Given the description of an element on the screen output the (x, y) to click on. 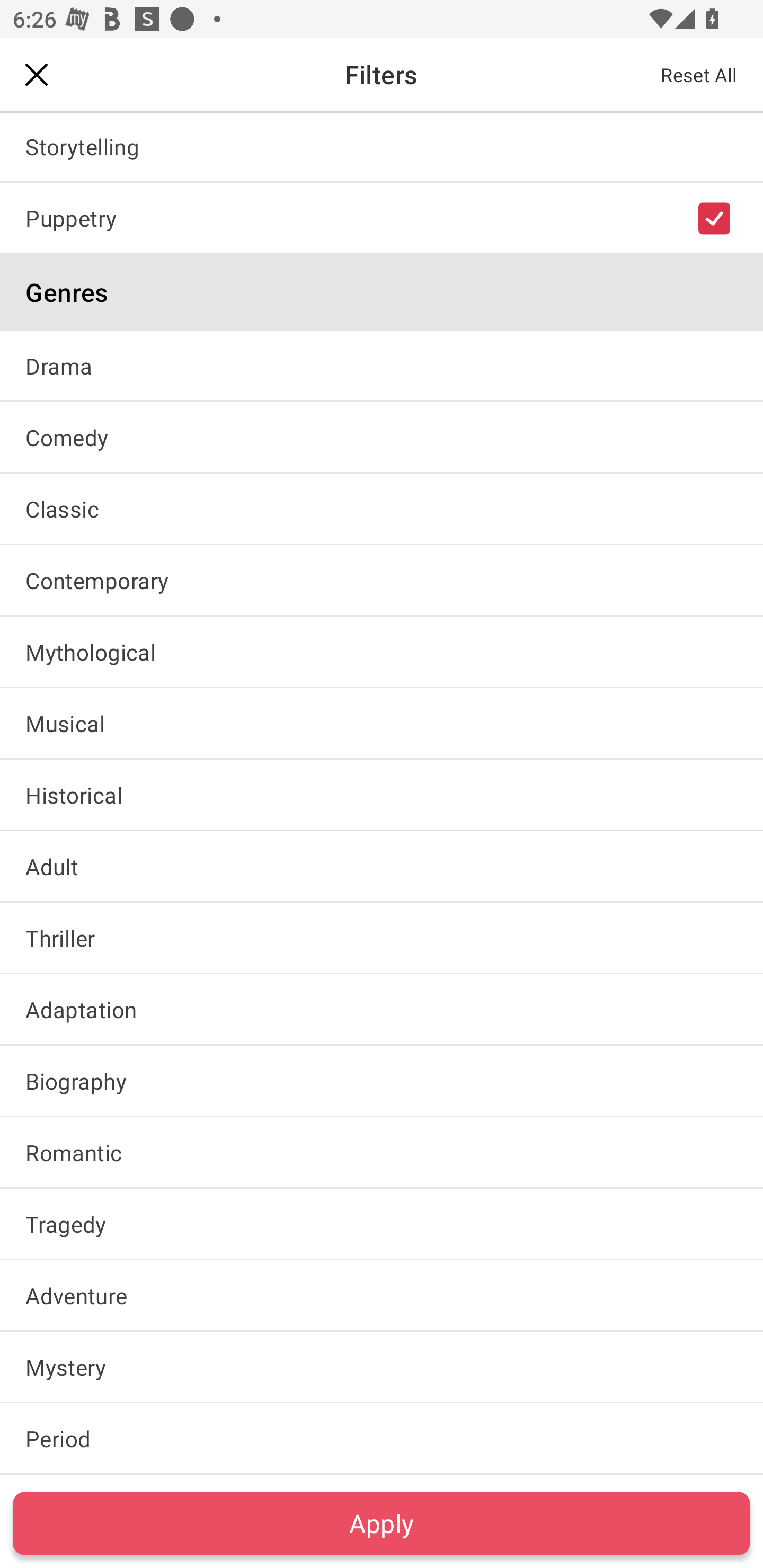
Close (36, 74)
Reset All (699, 74)
Theatre (381, 74)
Storytelling (381, 146)
Puppetry  (381, 217)
Drama (381, 364)
Comedy (381, 436)
Classic (381, 508)
Contemporary (381, 579)
Mythological (381, 651)
Musical (381, 722)
Historical (381, 793)
Adult (381, 866)
Thriller (381, 937)
Adaptation (381, 1008)
Biography (381, 1079)
Romantic (381, 1151)
Tragedy (381, 1223)
Adventure (381, 1294)
Mystery (381, 1366)
Period (381, 1438)
Apply (381, 1523)
